Given the description of an element on the screen output the (x, y) to click on. 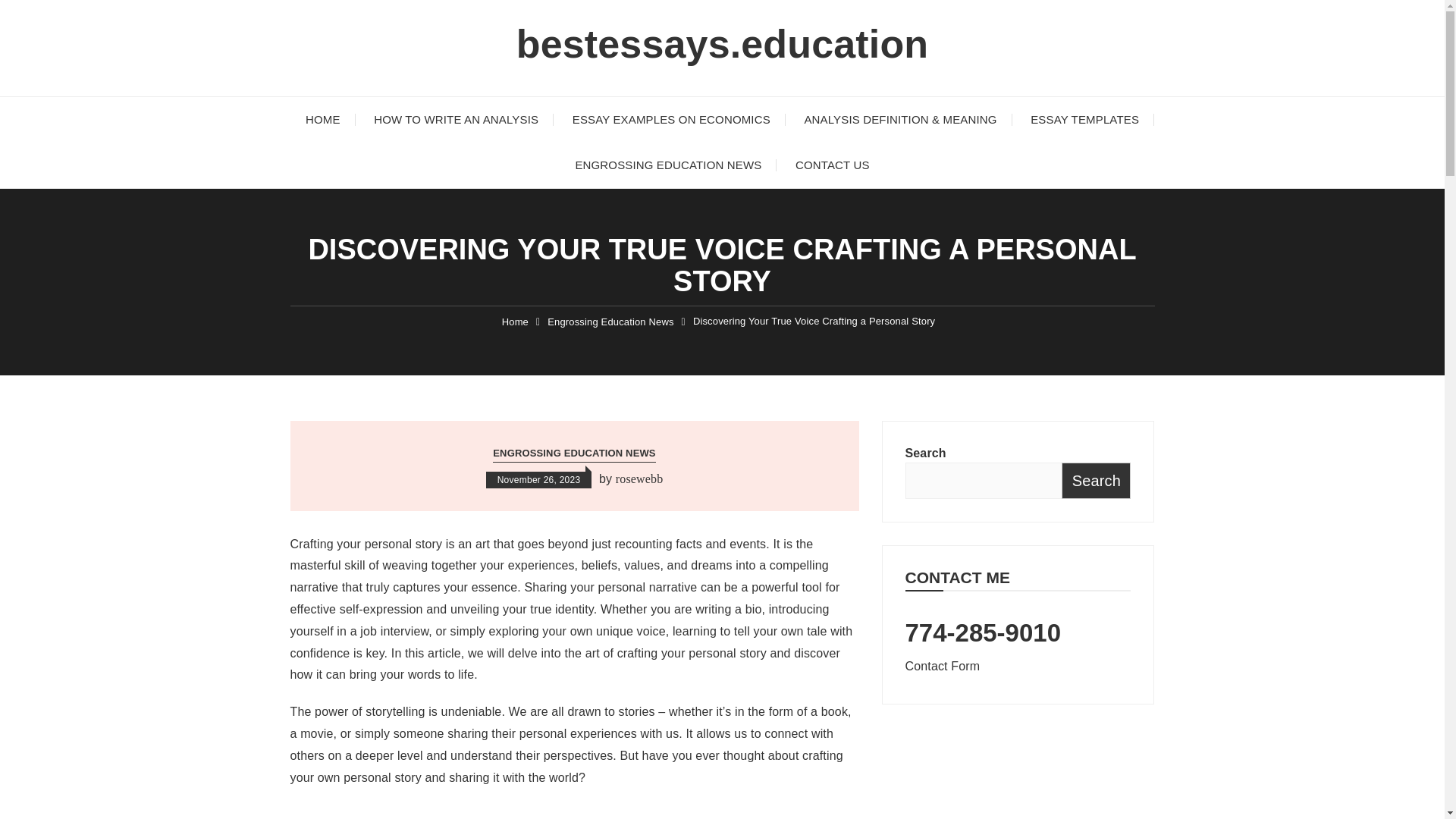
bestessays.education (722, 44)
Engrossing Education News (609, 322)
Home (515, 322)
CONTACT US (832, 165)
ESSAY EXAMPLES ON ECONOMICS (671, 119)
HOME (322, 119)
ENGROSSING EDUCATION NEWS (574, 453)
HOW TO WRITE AN ANALYSIS (455, 119)
November 26, 2023 (539, 479)
Search (1096, 480)
ENGROSSING EDUCATION NEWS (667, 165)
rosewebb (639, 479)
ESSAY TEMPLATES (1084, 119)
Contact Form (942, 666)
